Given the description of an element on the screen output the (x, y) to click on. 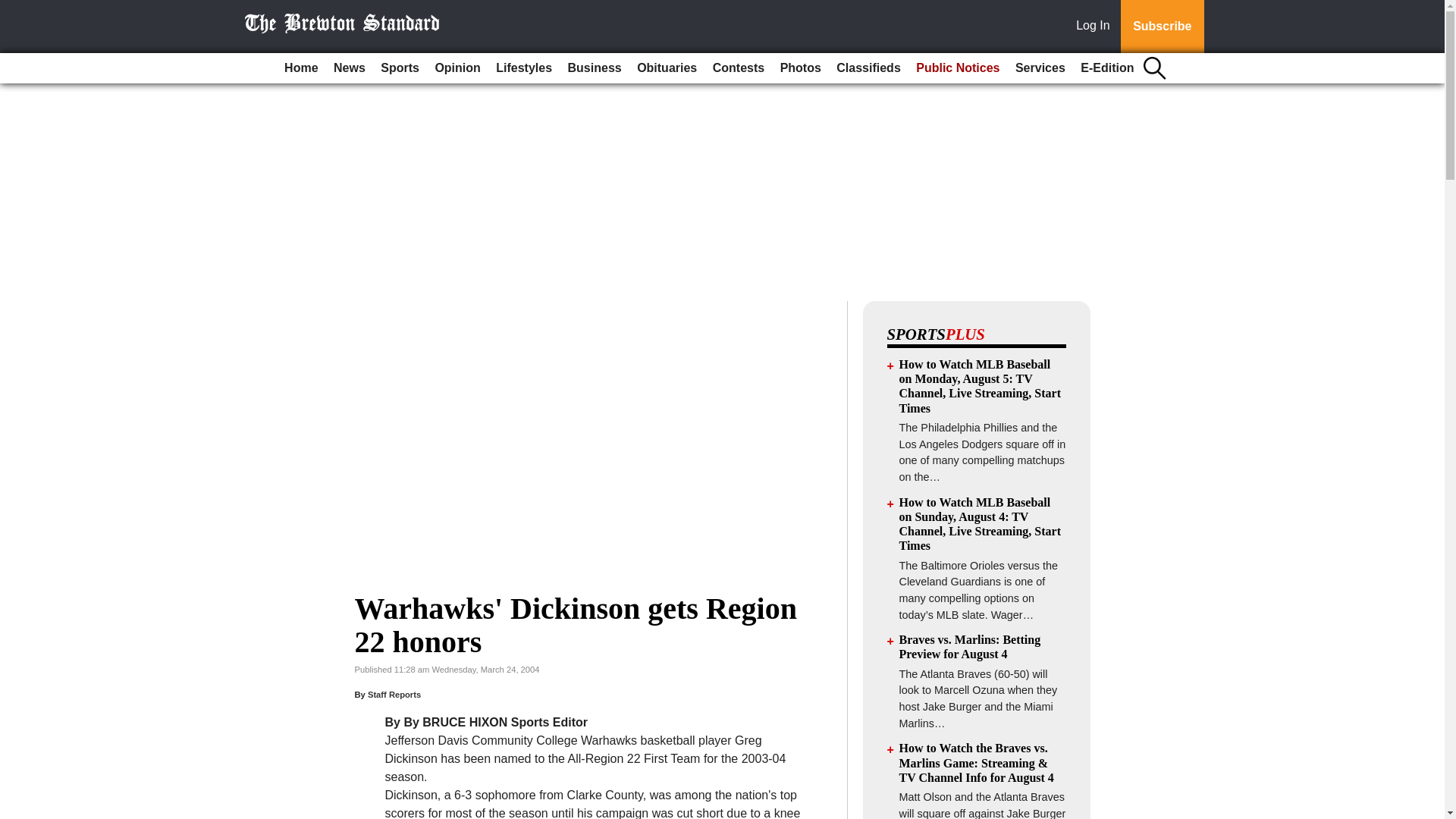
E-Edition (1107, 68)
Lifestyles (523, 68)
Classifieds (867, 68)
Go (13, 9)
Business (594, 68)
Home (300, 68)
Staff Reports (394, 694)
News (349, 68)
Opinion (457, 68)
